Given the description of an element on the screen output the (x, y) to click on. 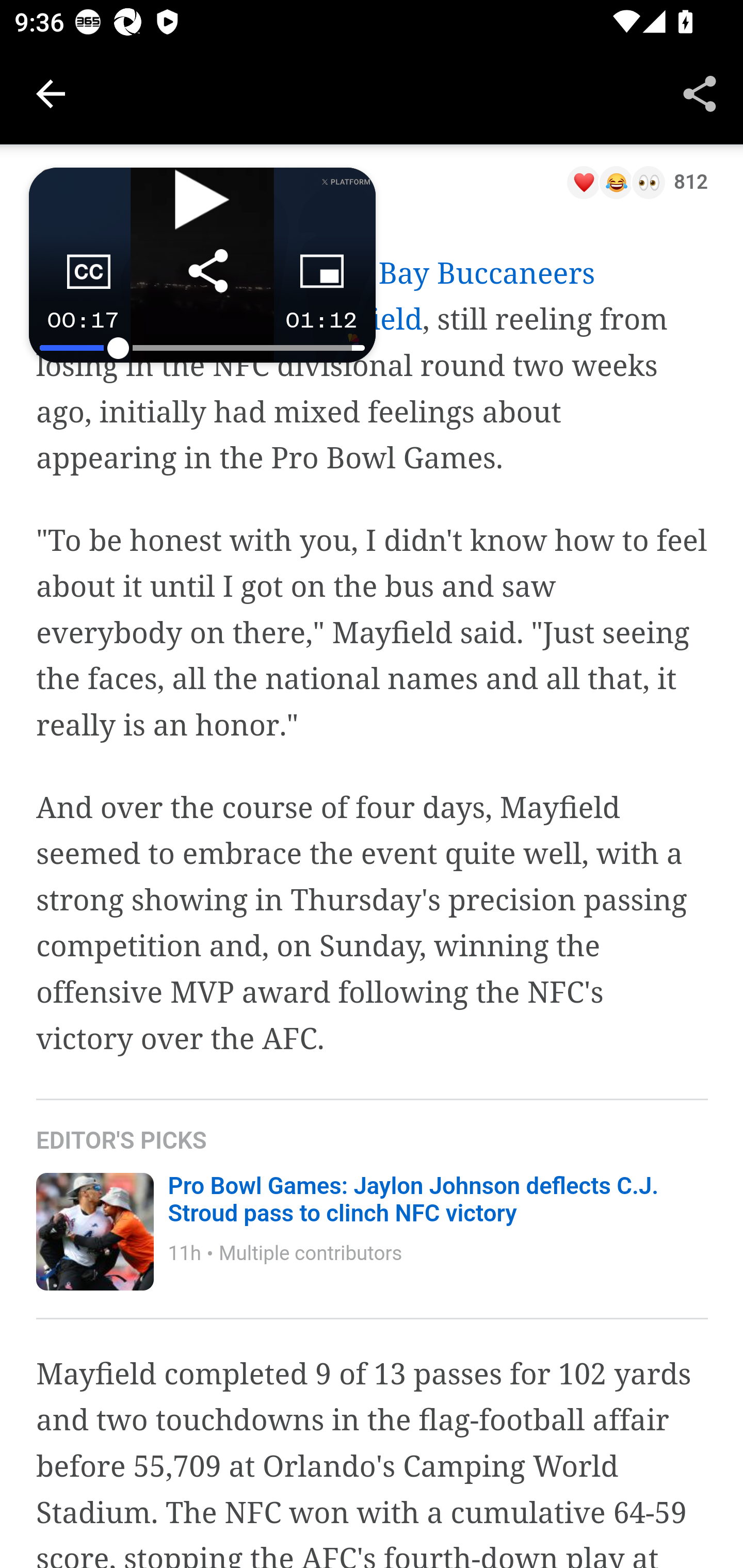
Navigate up (50, 93)
Share (699, 93)
